Given the description of an element on the screen output the (x, y) to click on. 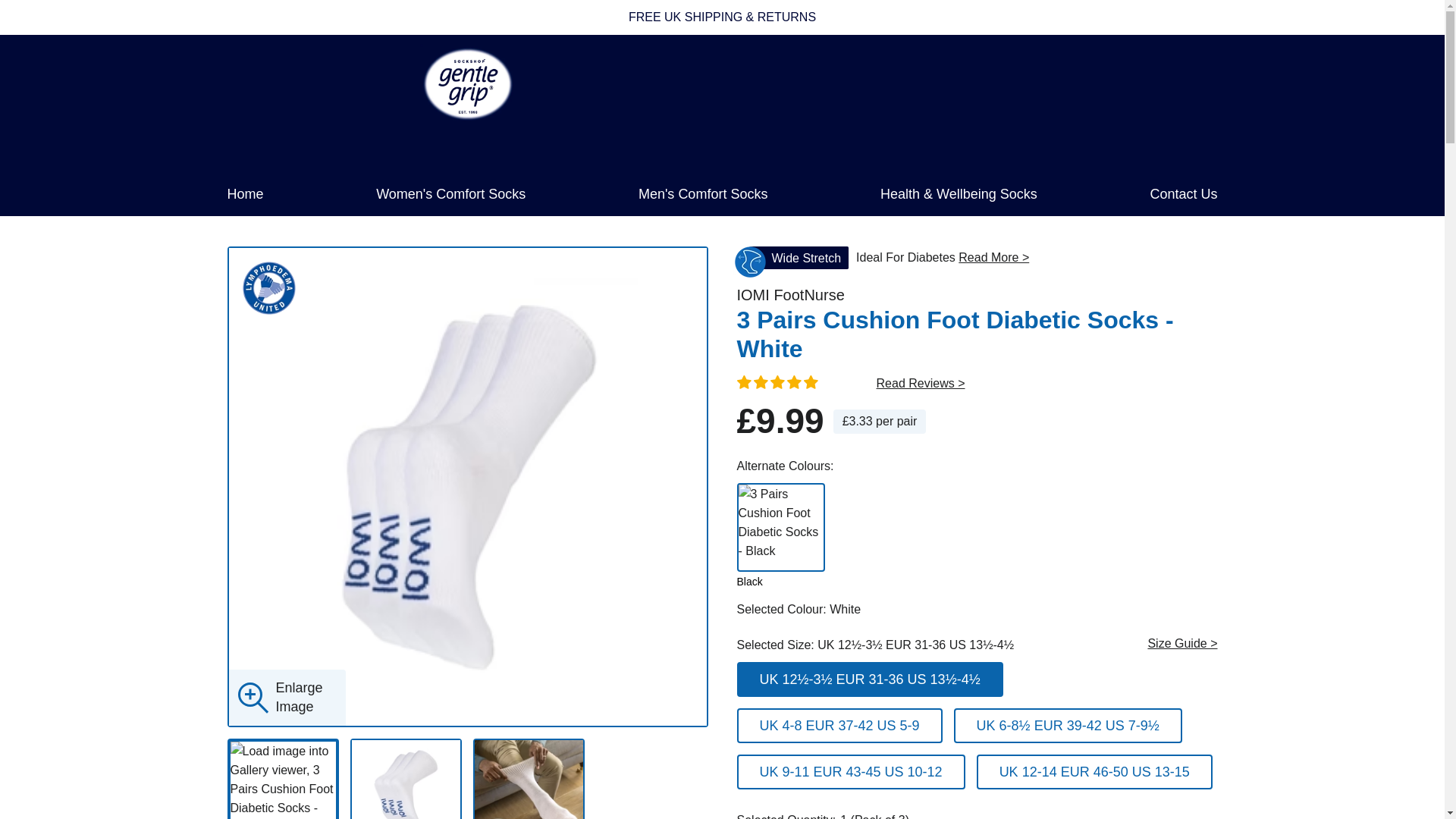
UK 12-14 EUR 46-50 US 13-15 (748, 671)
UK 4-8 EUR 37-42 US 5-9 (748, 671)
UK 9-11 EUR 43-45 US 10-12 (748, 671)
